Given the description of an element on the screen output the (x, y) to click on. 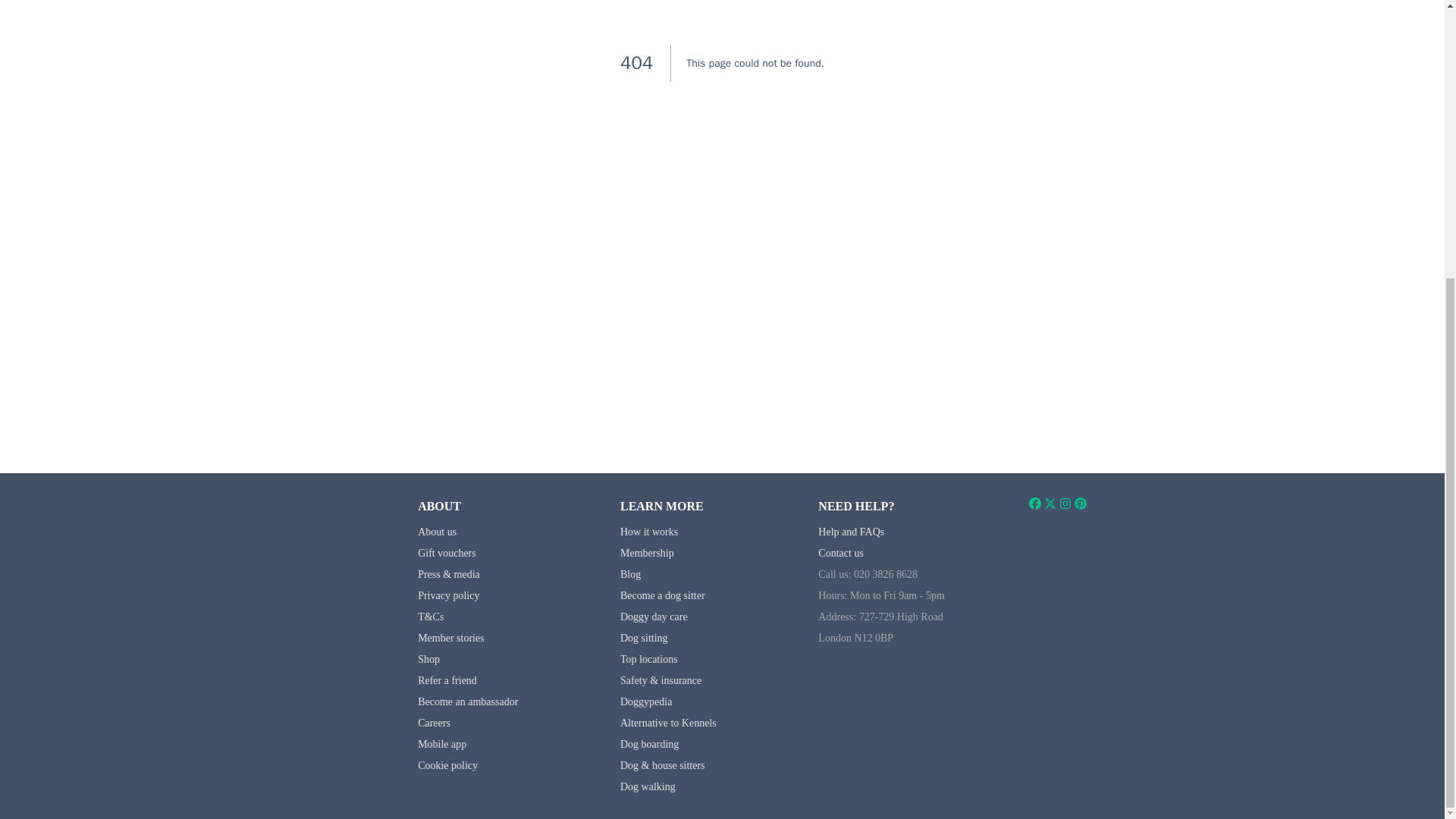
Doggy day care (653, 616)
Blog (630, 573)
Cookie policy (447, 765)
Become an ambassador (467, 701)
Become a dog sitter (662, 595)
How it works (649, 531)
Alternative to Kennels (668, 722)
Help and FAQs (850, 531)
Doggypedia (645, 701)
Dog walking (647, 786)
